Given the description of an element on the screen output the (x, y) to click on. 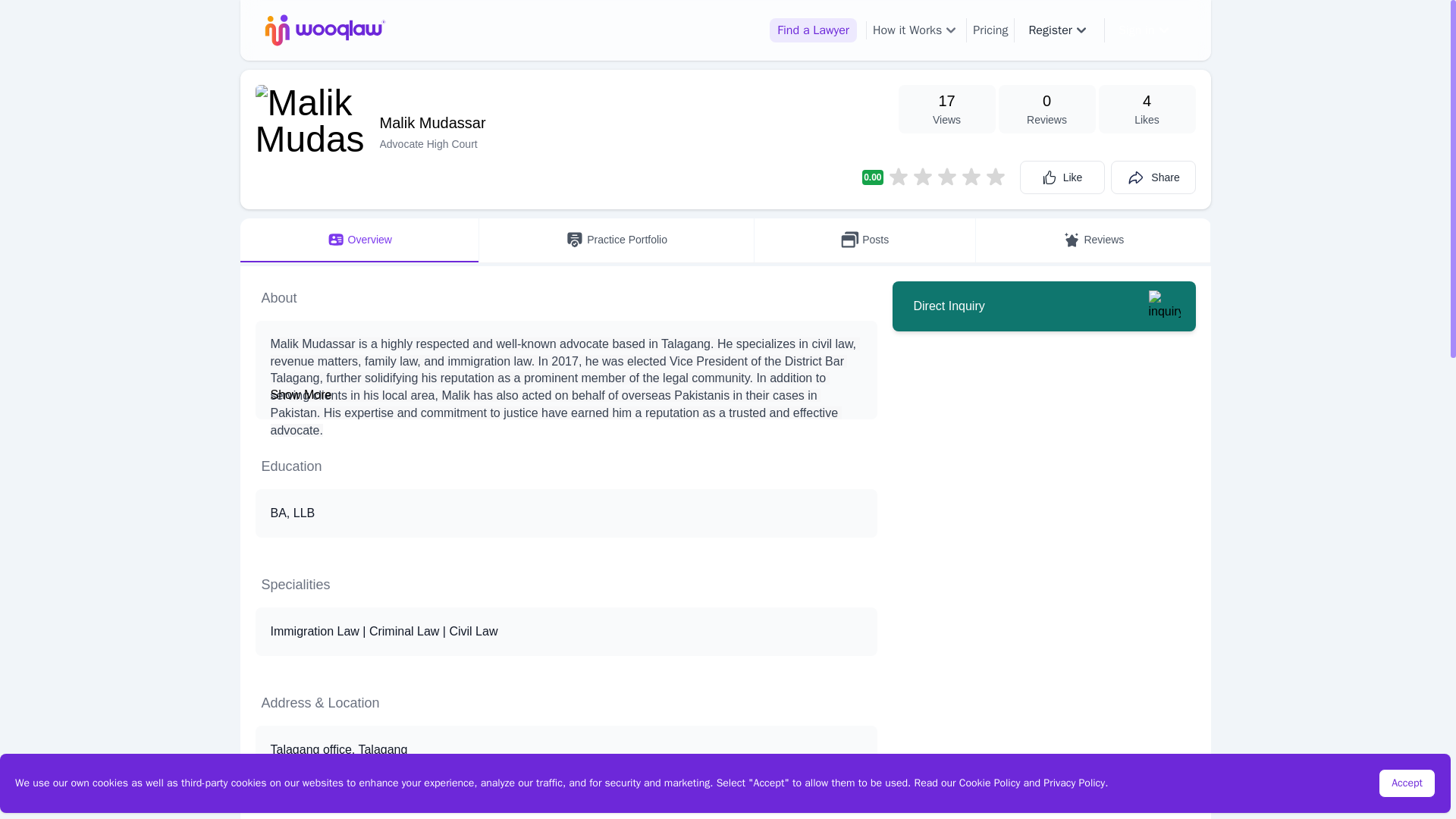
Accept (1406, 783)
Overview (359, 240)
Find a Lawyer (813, 30)
Reviews (1092, 240)
Pricing (989, 30)
Sign in (1145, 30)
Posts (864, 240)
How it Works (915, 30)
Like (1061, 177)
Share (1152, 177)
